Given the description of an element on the screen output the (x, y) to click on. 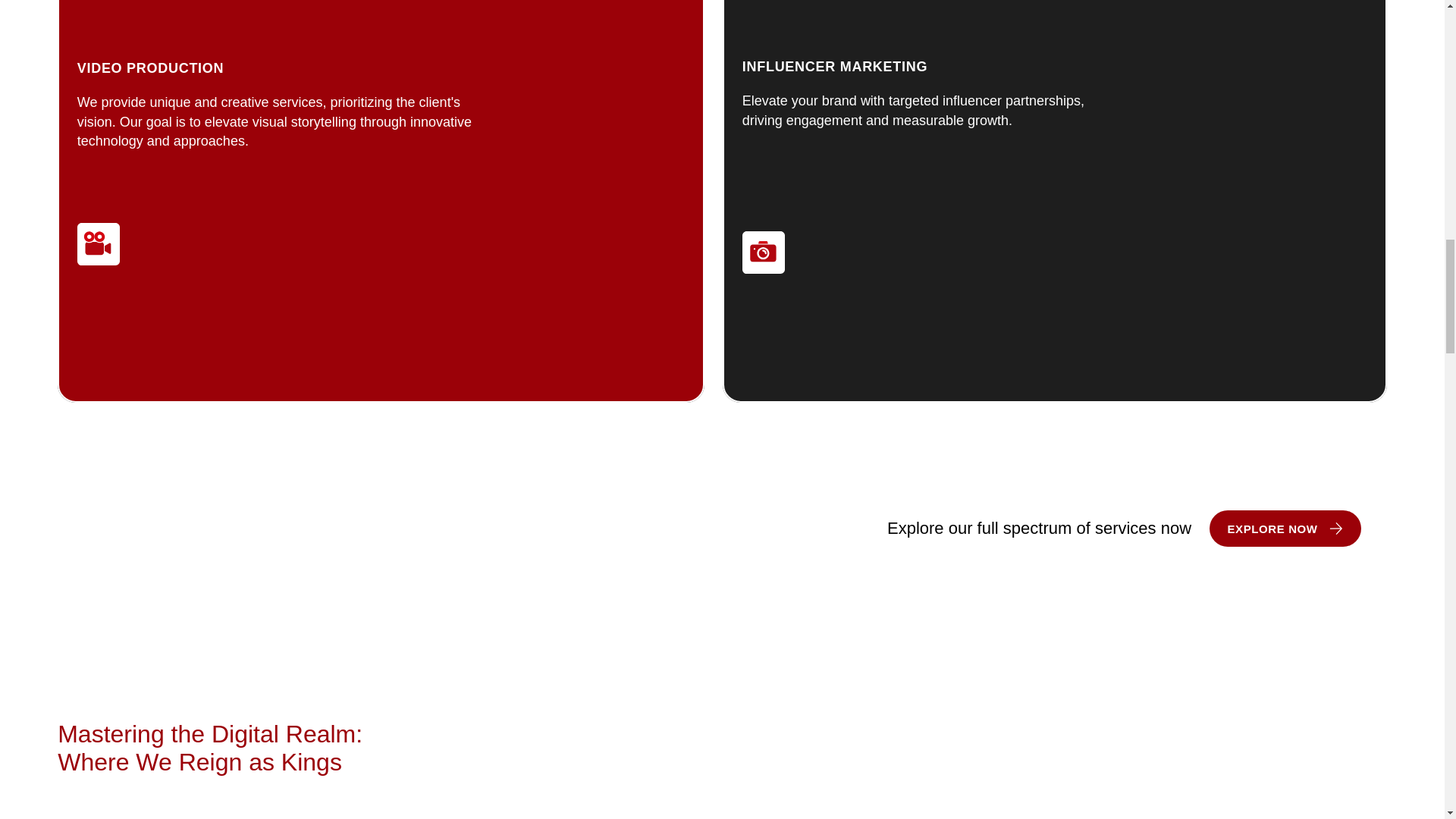
EXPLORE NOW (1285, 528)
